Given the description of an element on the screen output the (x, y) to click on. 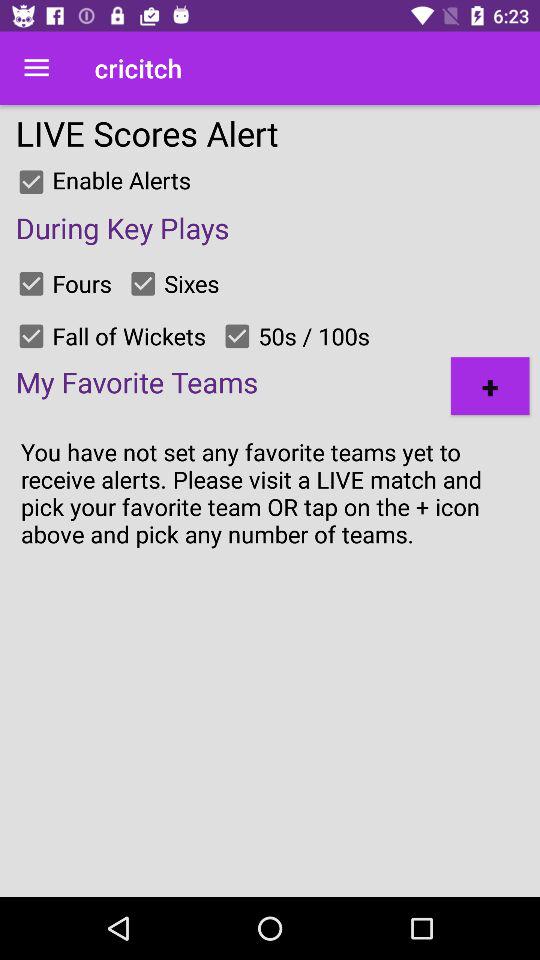
switch alert option (237, 336)
